Given the description of an element on the screen output the (x, y) to click on. 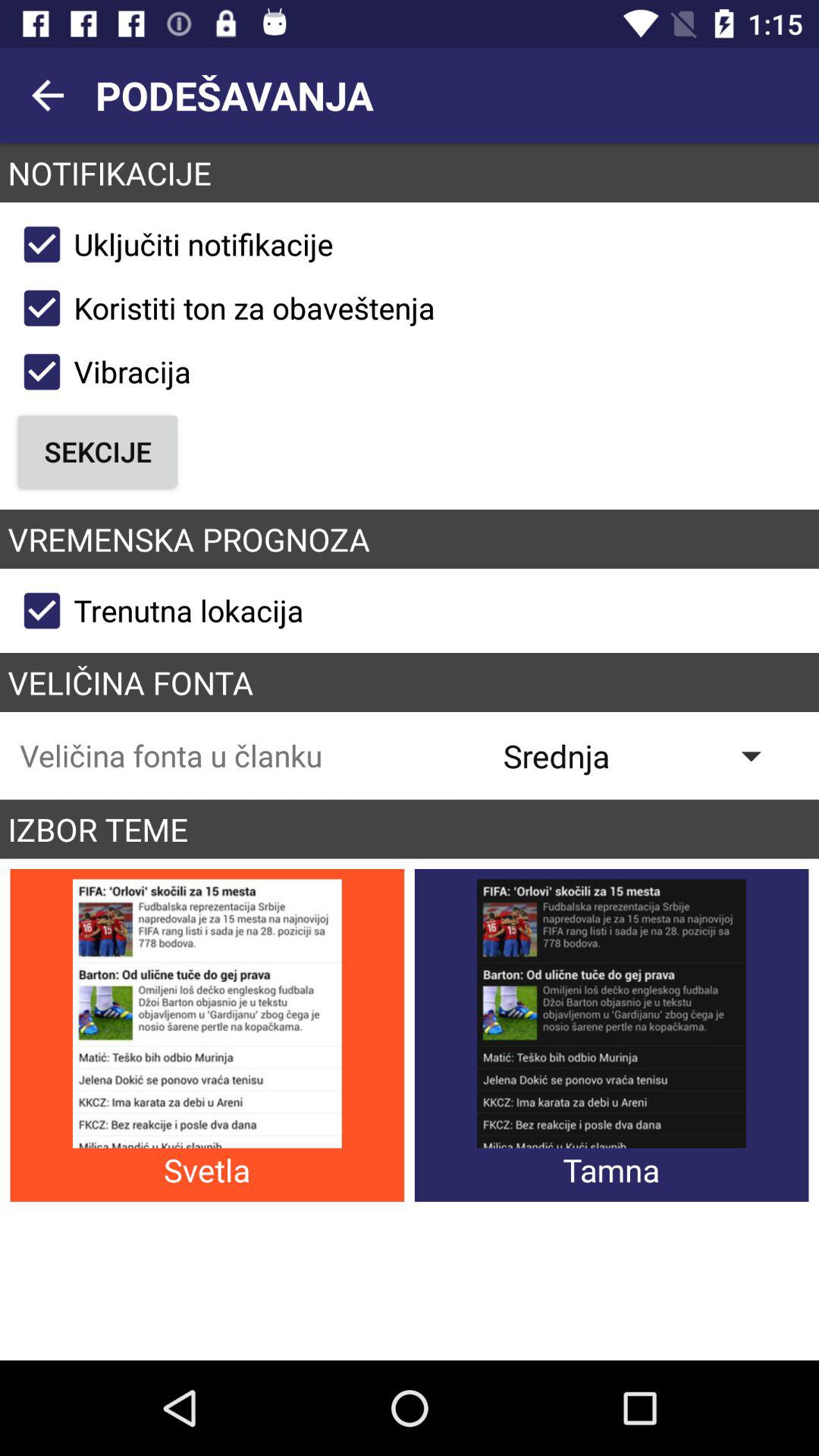
select the button above sekcije icon (100, 371)
